Given the description of an element on the screen output the (x, y) to click on. 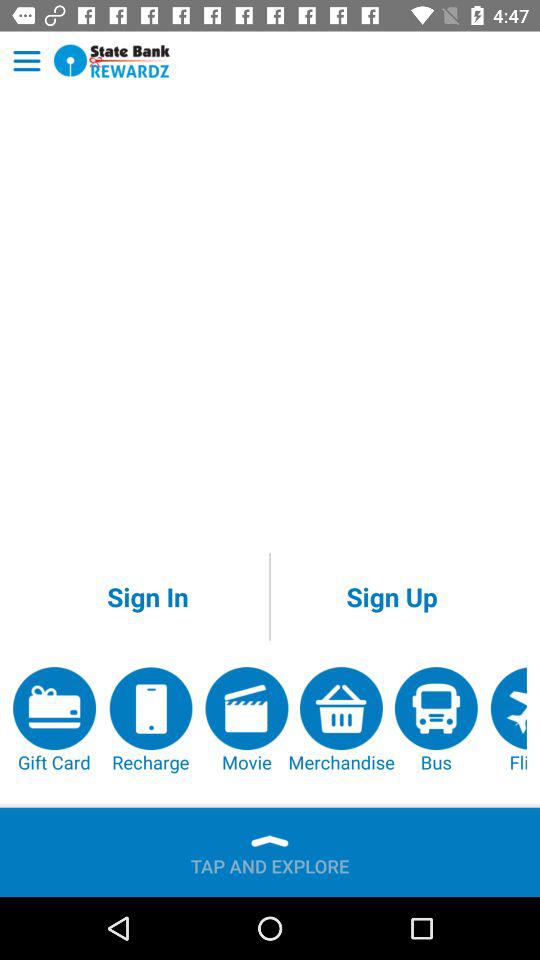
choose icon next to flight (435, 720)
